Given the description of an element on the screen output the (x, y) to click on. 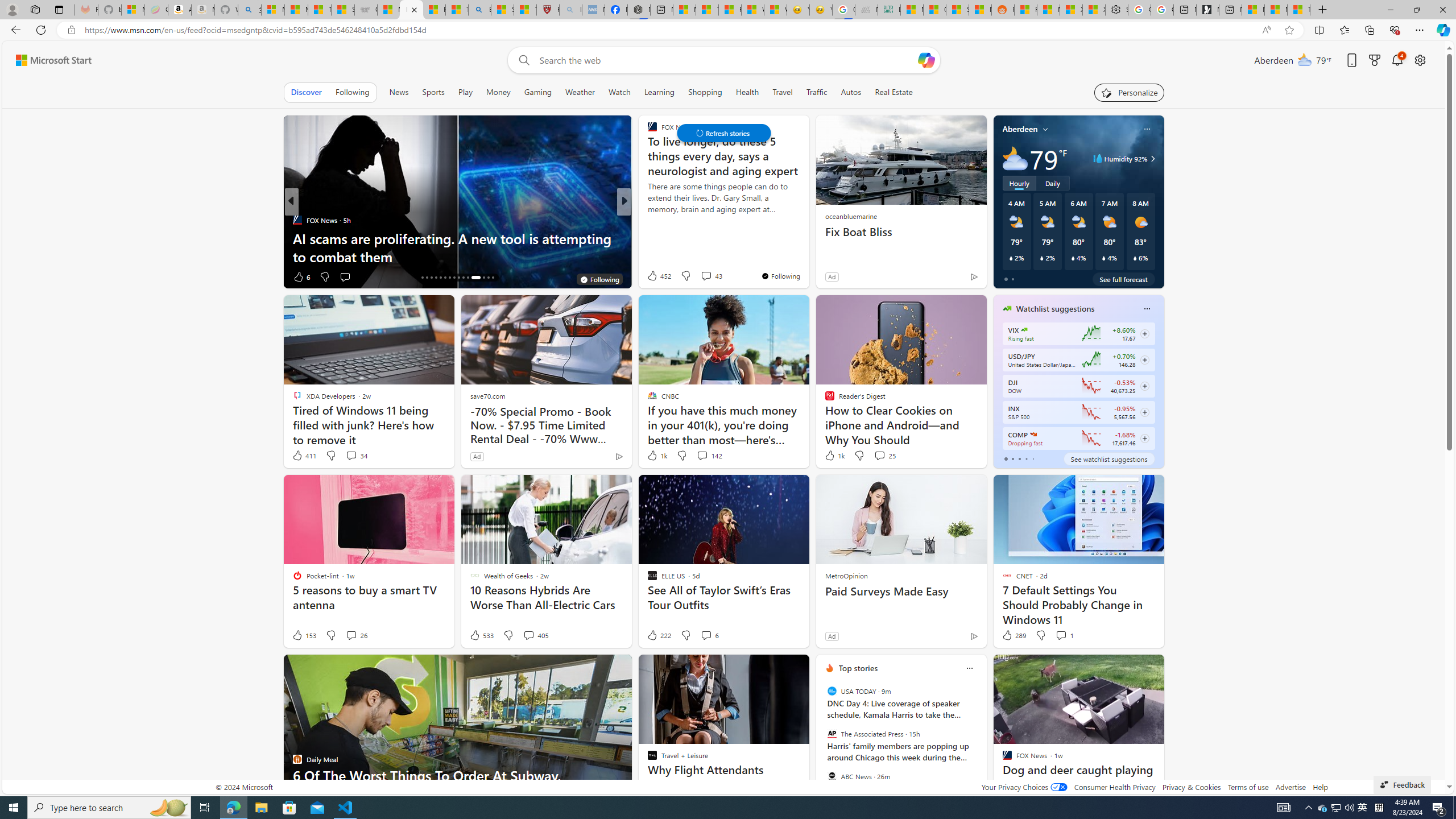
MetroOpinion (845, 574)
153 Like (303, 634)
These 3 Stocks Pay You More Than 5% to Own Them (1298, 9)
View comments 6 Comment (705, 635)
tab-4 (1032, 458)
Fix Boat Bliss (900, 232)
My location (1045, 128)
AutomationID: tab-25 (462, 277)
